Given the description of an element on the screen output the (x, y) to click on. 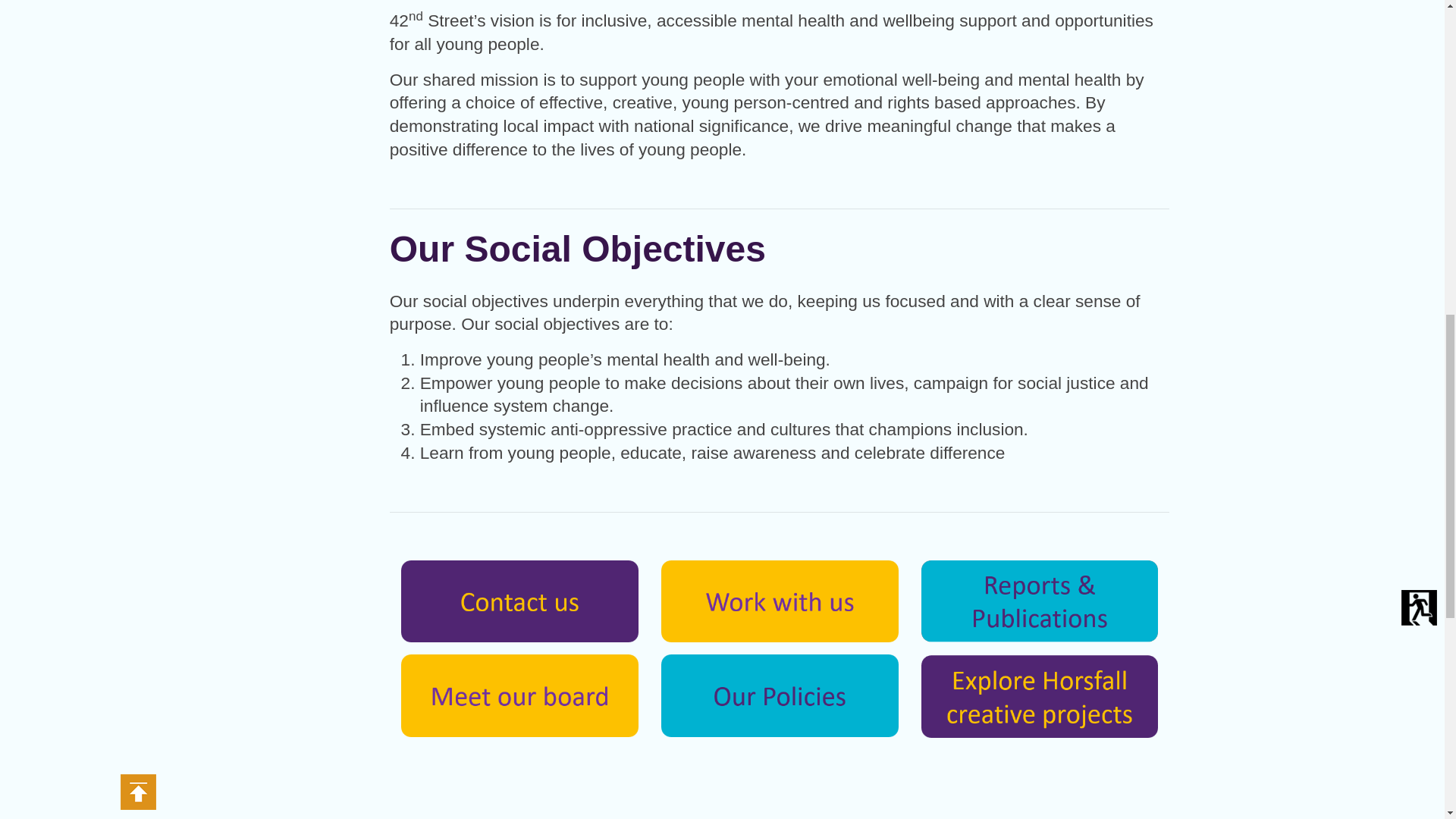
Publications and Reports (1039, 599)
Work With Us (779, 599)
Contact Us (520, 599)
